Given the description of an element on the screen output the (x, y) to click on. 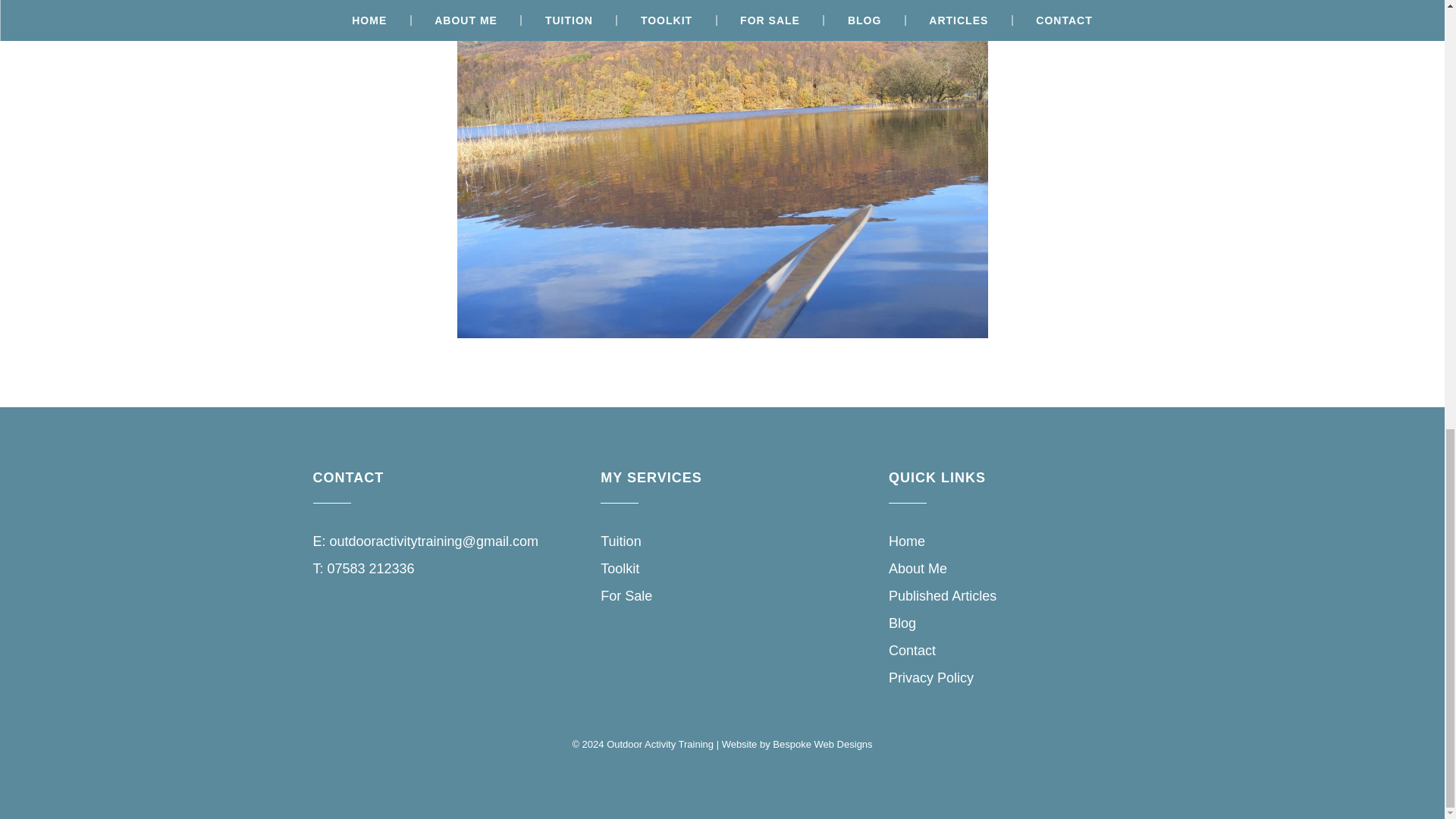
Bespoke Web Designs (822, 744)
For Sale (625, 595)
Tuition (619, 540)
Toolkit (619, 568)
About Me (917, 568)
Blog (901, 622)
Contact (912, 650)
Bespoke Web Designs, Exeter (822, 744)
07583 212336 (370, 568)
Home (906, 540)
Published Articles (941, 595)
Privacy Policy (931, 677)
